Given the description of an element on the screen output the (x, y) to click on. 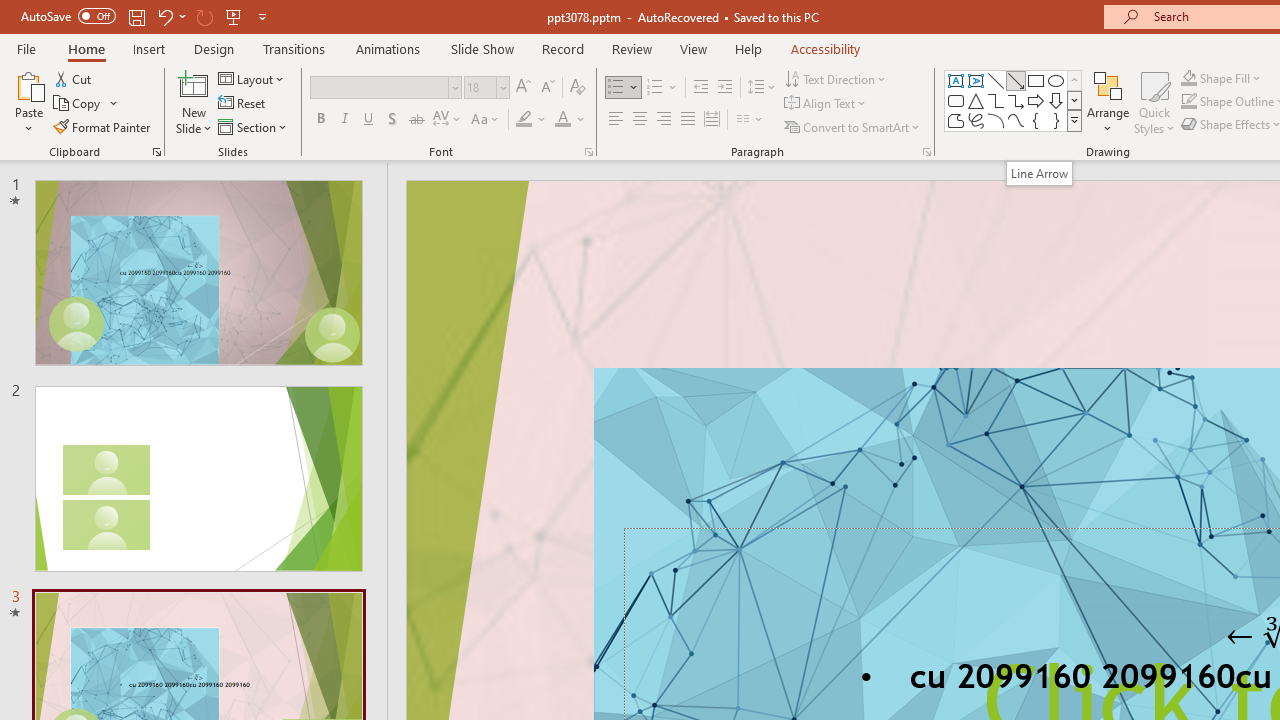
Reset (243, 103)
Text Direction (836, 78)
Justify (687, 119)
Center (639, 119)
Shape Fill Dark Green, Accent 2 (1188, 78)
Align Text (826, 103)
